Given the description of an element on the screen output the (x, y) to click on. 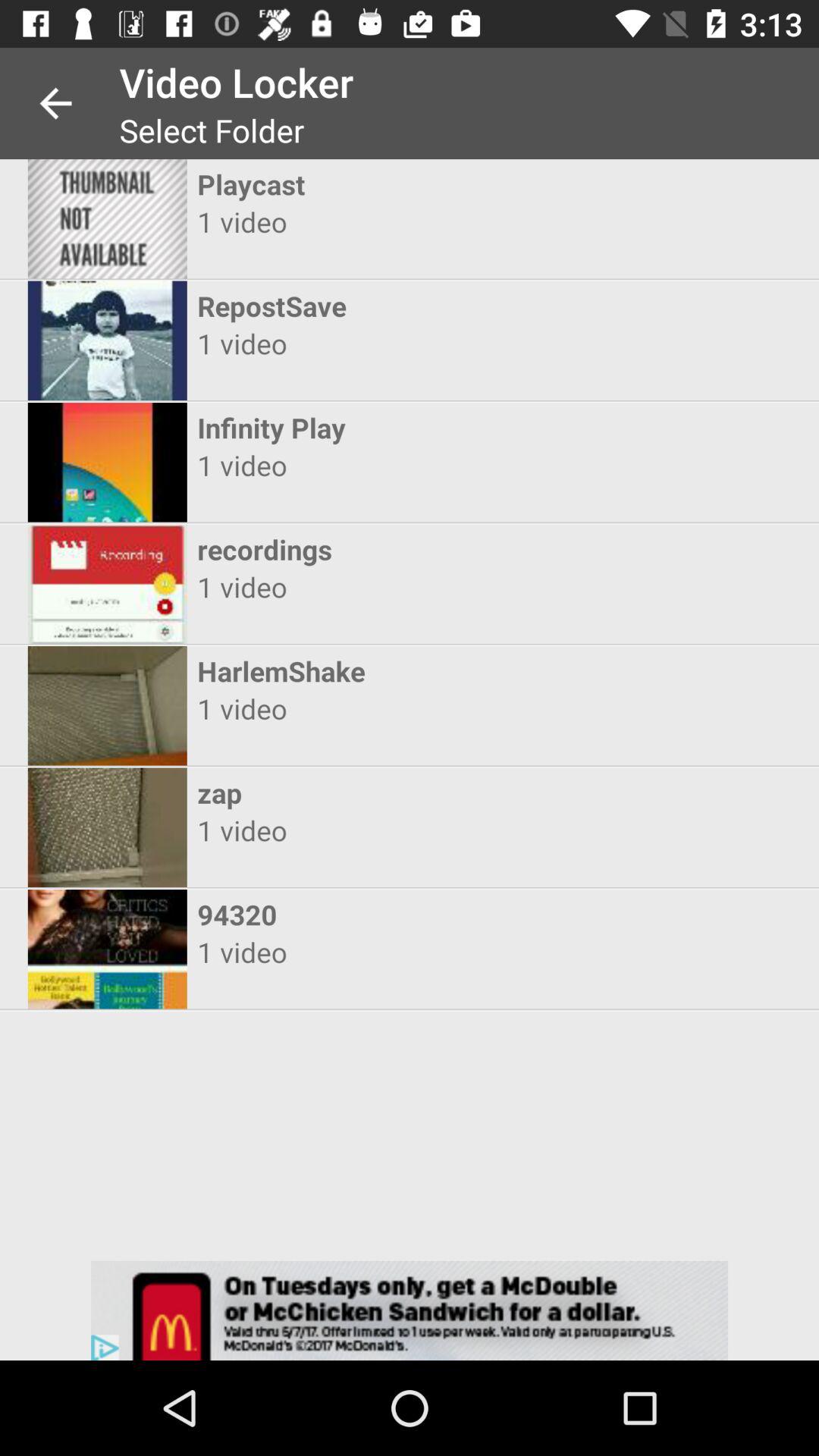
swipe to the infinity play item (396, 427)
